Given the description of an element on the screen output the (x, y) to click on. 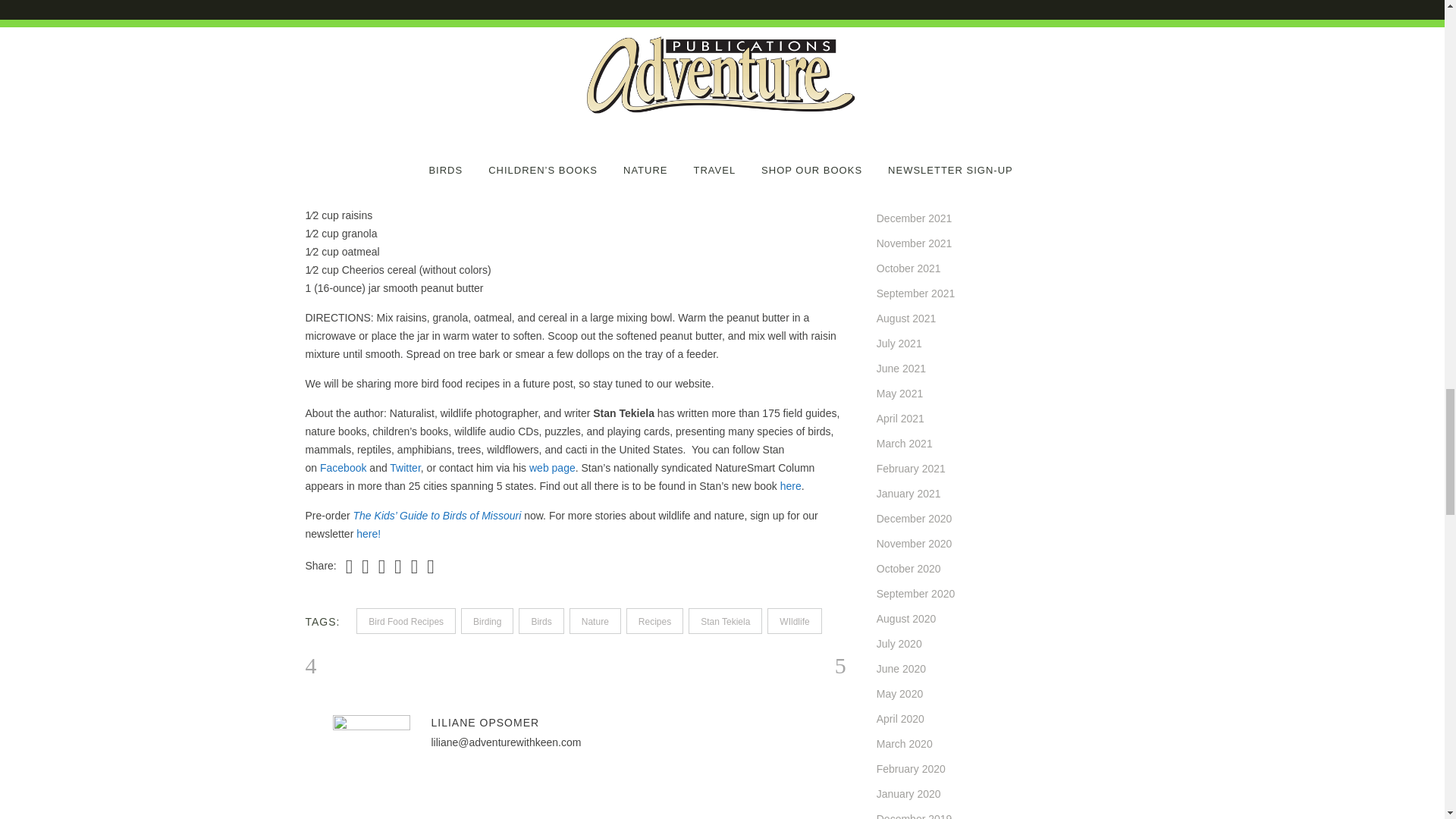
WIldlife (794, 620)
Twitter (405, 467)
web page (552, 467)
Nature (595, 620)
Facebook (343, 467)
Bird Food Recipes (405, 620)
Recipes (654, 620)
here (791, 485)
Stan Tekiela (724, 620)
Birding (487, 620)
Birds (540, 620)
here! (368, 533)
